Given the description of an element on the screen output the (x, y) to click on. 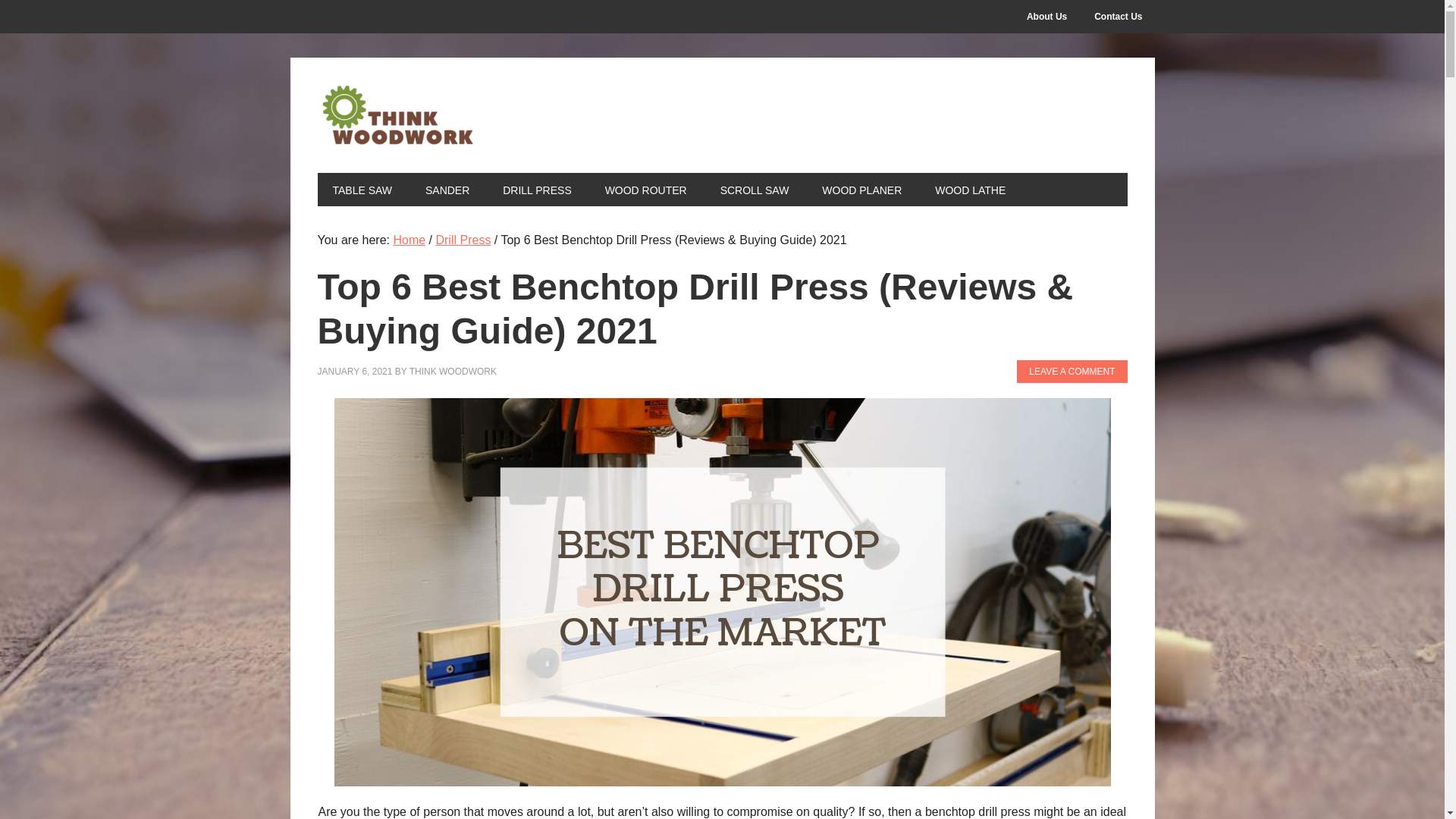
DRILL PRESS (536, 189)
THINK WOODWORK (419, 115)
WOOD ROUTER (645, 189)
About Us (1046, 16)
TABLE SAW (362, 189)
WOOD PLANER (861, 189)
SCROLL SAW (754, 189)
Contact Us (1117, 16)
SANDER (447, 189)
